Given the description of an element on the screen output the (x, y) to click on. 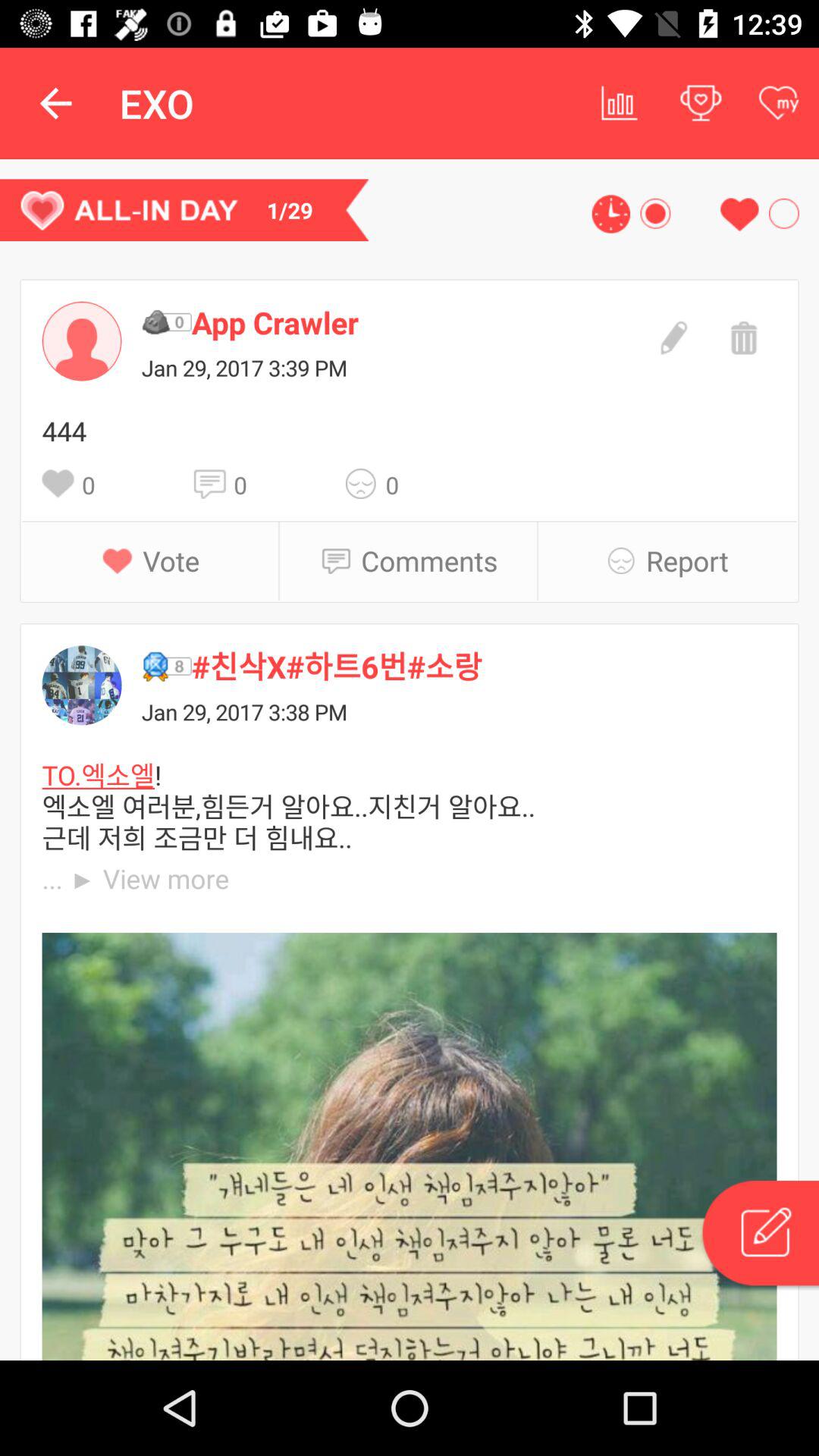
write post (759, 1235)
